Given the description of an element on the screen output the (x, y) to click on. 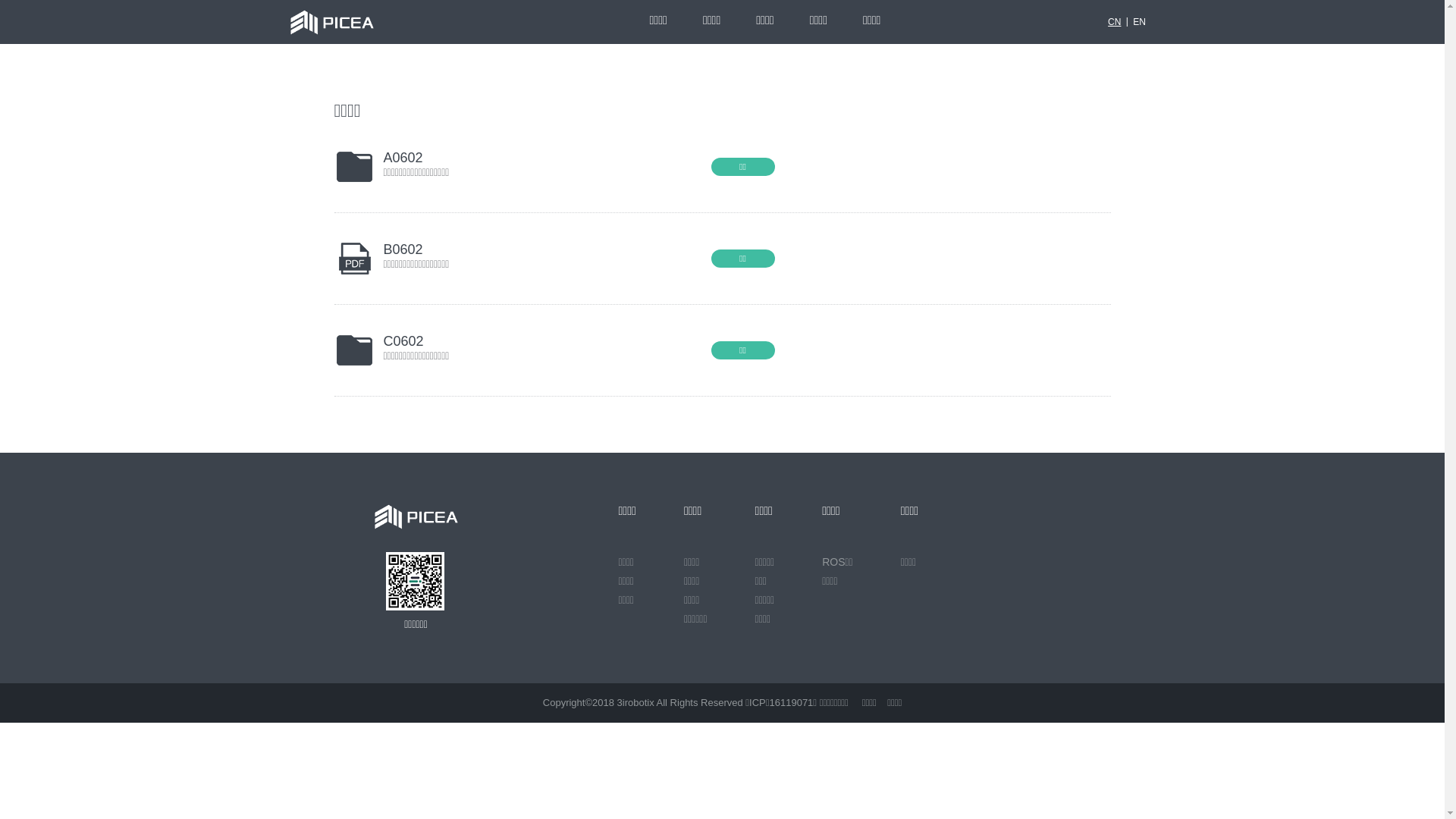
CN Element type: text (1113, 21)
EN Element type: text (1138, 21)
